Given the description of an element on the screen output the (x, y) to click on. 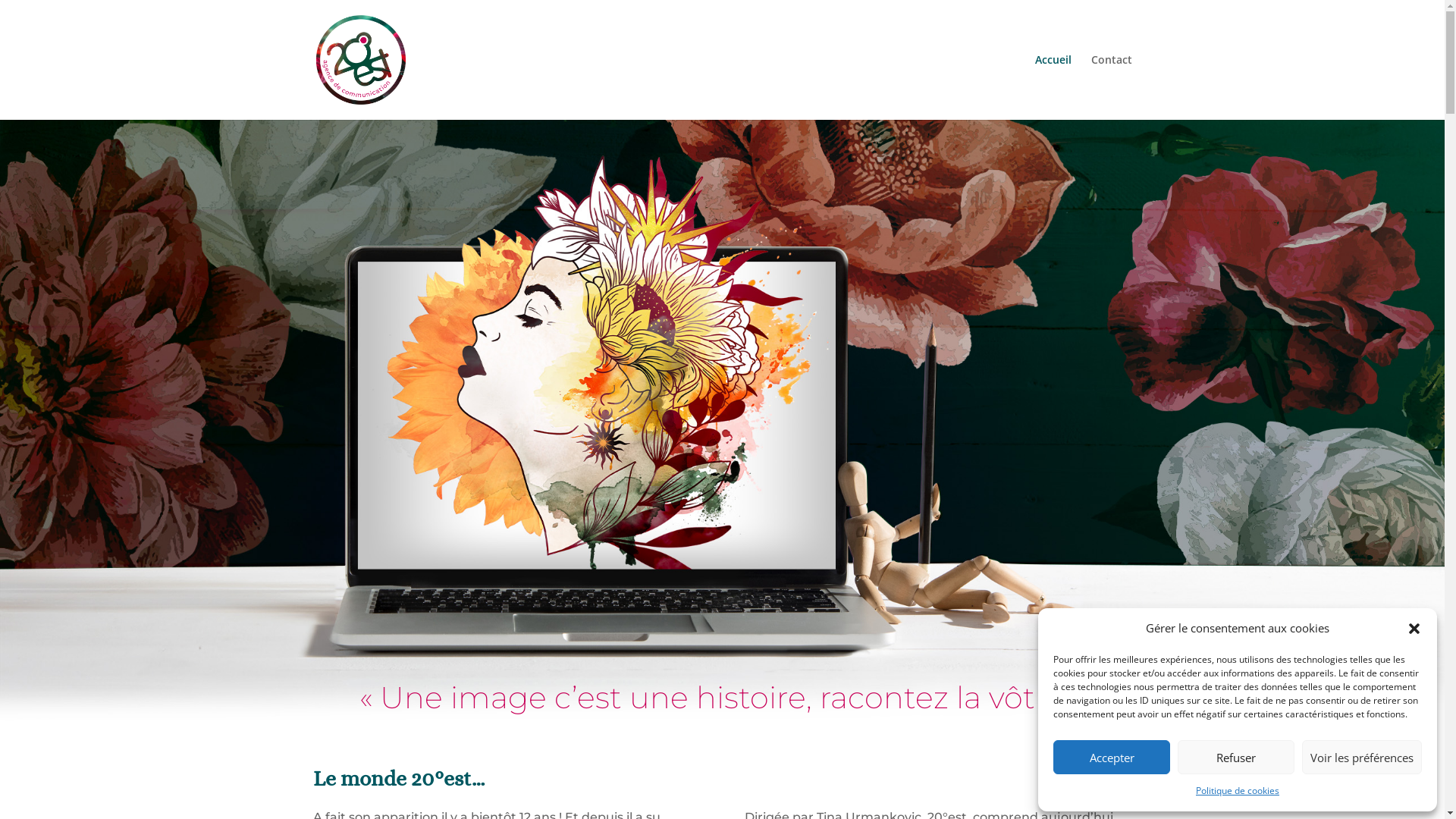
Politique de cookies Element type: text (1237, 790)
Refuser Element type: text (1235, 757)
Contact Element type: text (1110, 86)
Accueil Element type: text (1052, 86)
Accepter Element type: text (1111, 757)
